Given the description of an element on the screen output the (x, y) to click on. 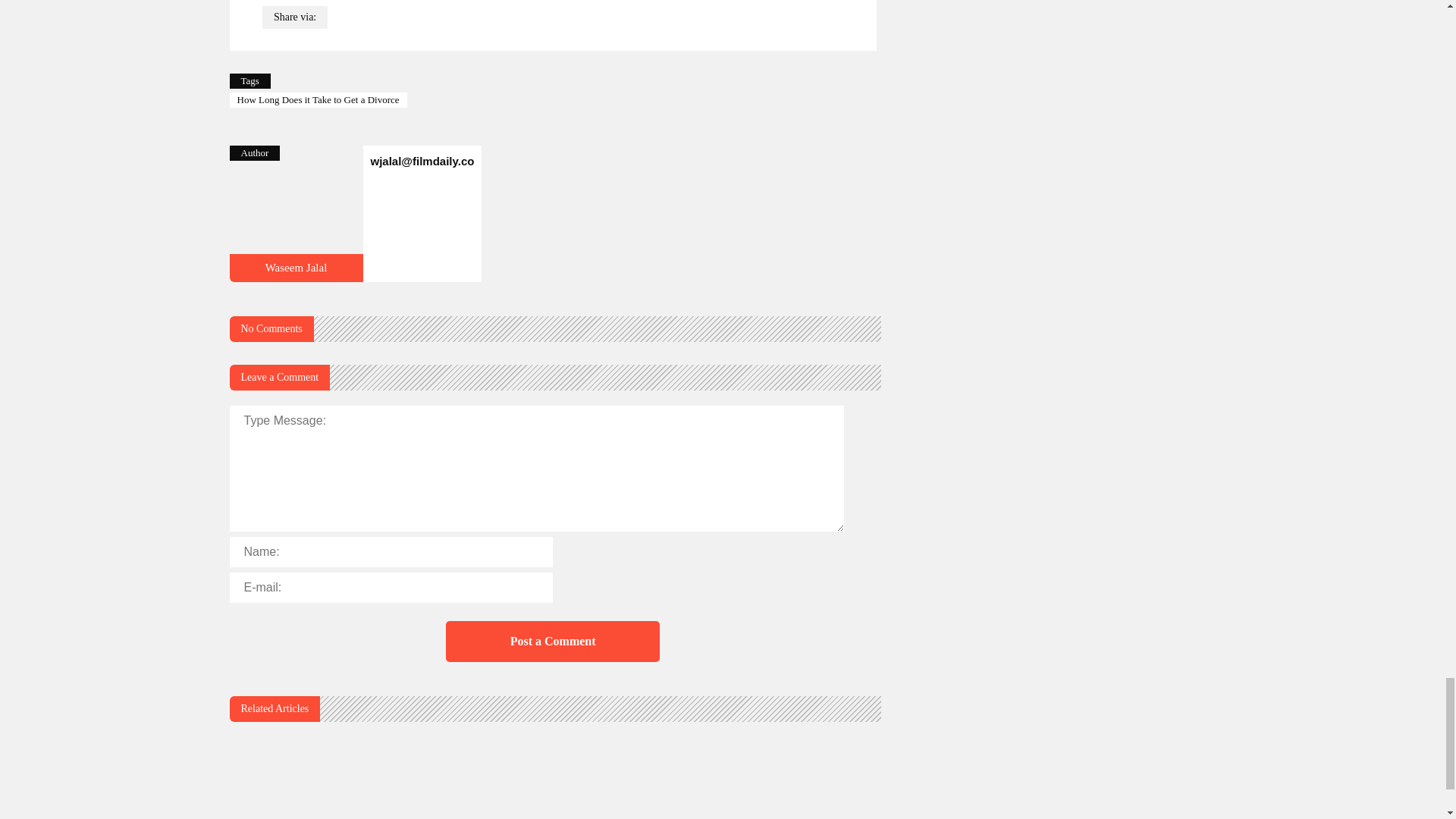
How Long Does it Take to Get a Divorce (295, 267)
Post a Comment (552, 640)
How Long Does it Take to Get a Divorce (295, 275)
